Given the description of an element on the screen output the (x, y) to click on. 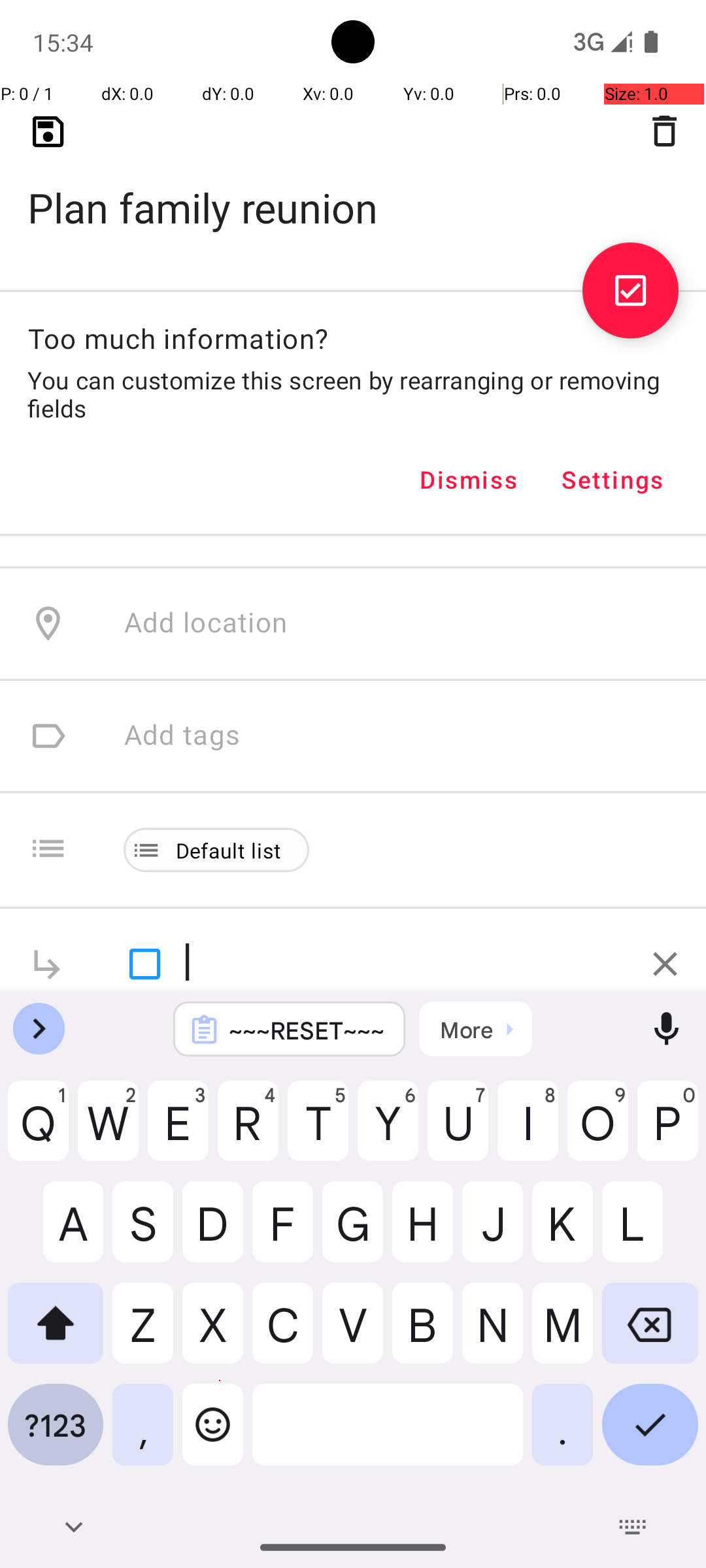
Plan family reunion Element type: android.widget.EditText (353, 186)
